Given the description of an element on the screen output the (x, y) to click on. 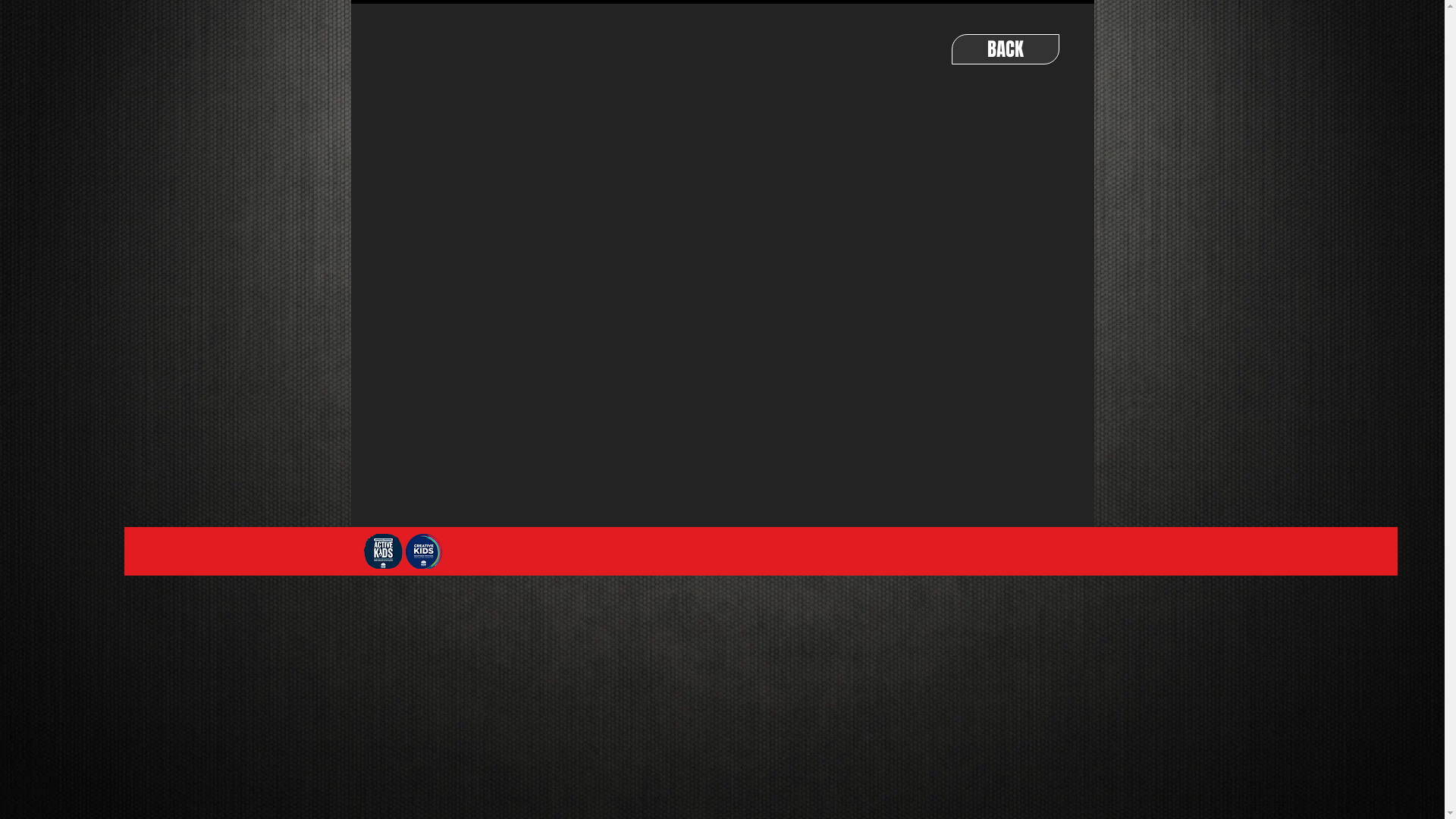
BACK Element type: text (1004, 49)
